Given the description of an element on the screen output the (x, y) to click on. 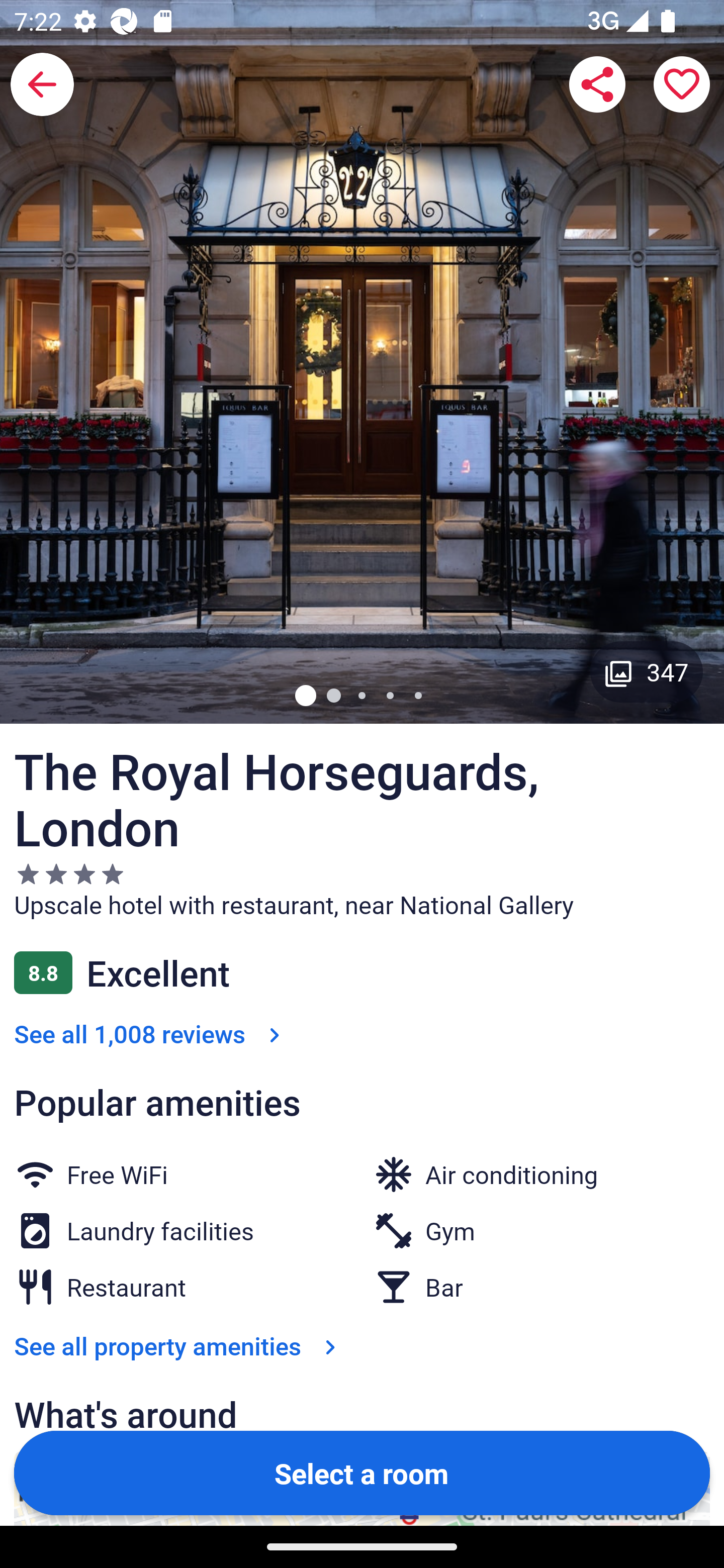
Back (42, 84)
Save property to a trip (681, 84)
Share The Royal Horseguards, London (597, 84)
Gallery button with 347 images (646, 671)
See all 1,008 reviews See all 1,008 reviews Link (150, 1032)
See all property amenities (178, 1345)
Select a room Button Select a room (361, 1472)
